Given the description of an element on the screen output the (x, y) to click on. 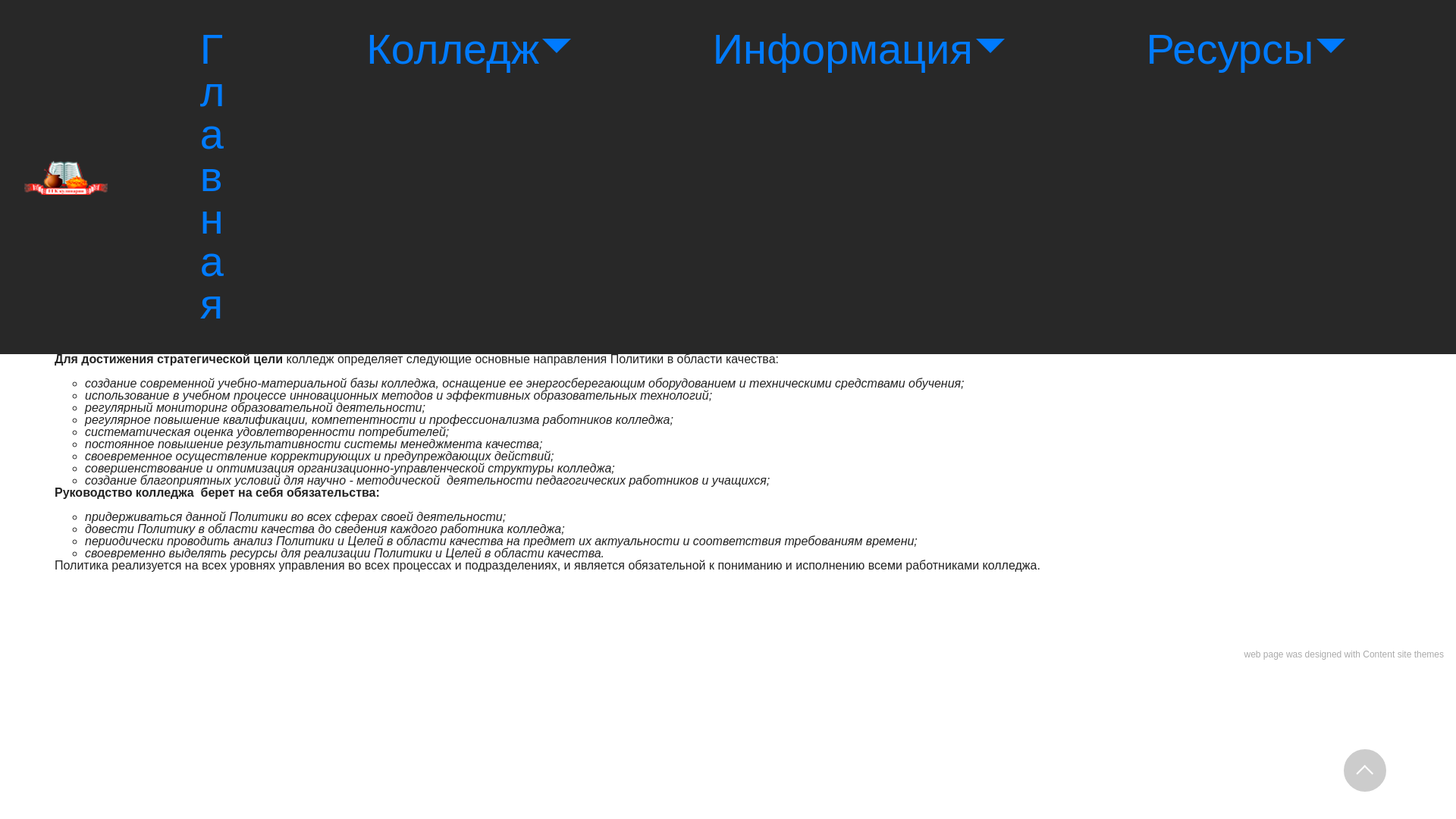
web page Element type: text (1263, 654)
